Given the description of an element on the screen output the (x, y) to click on. 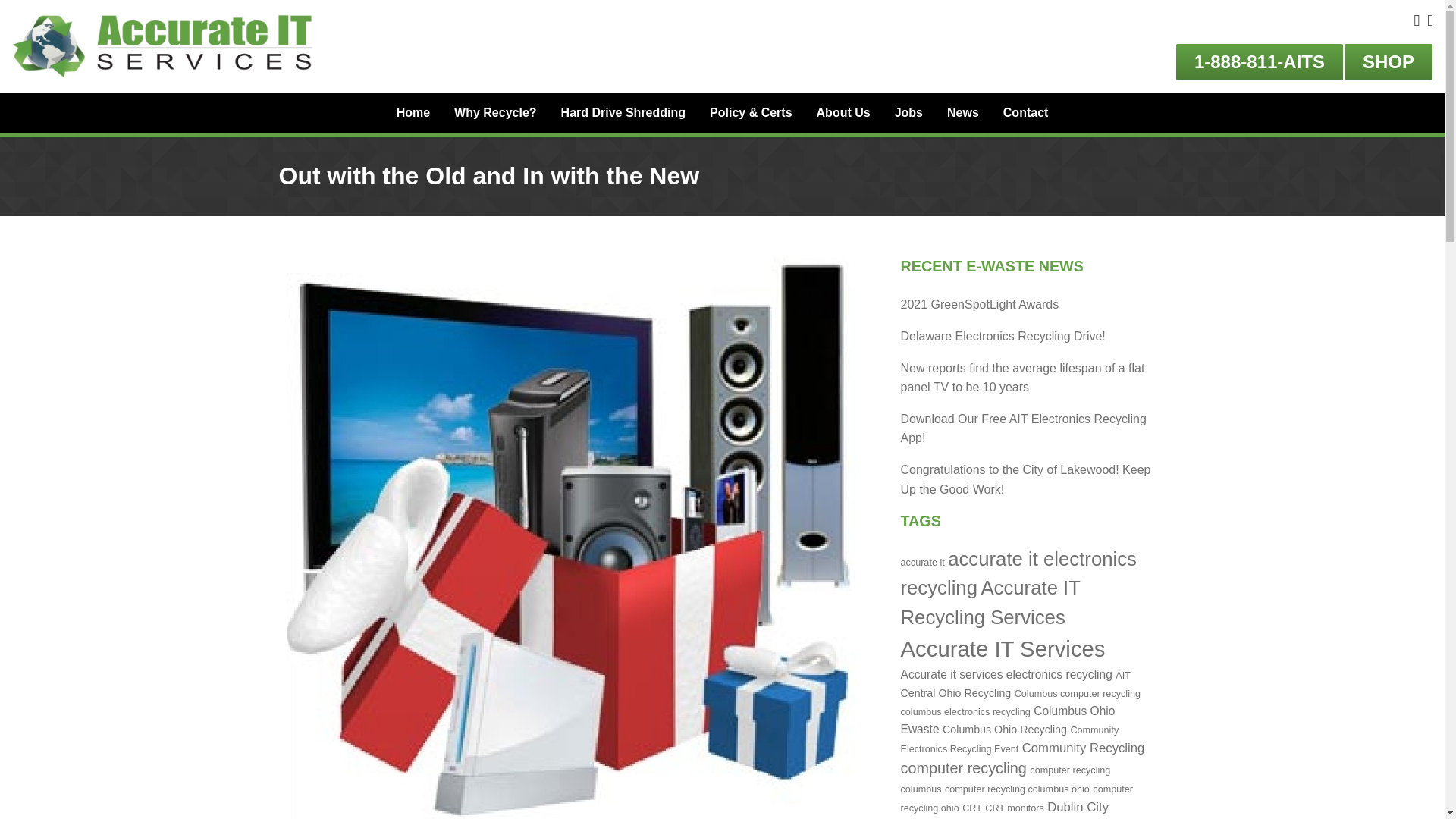
Download Our Free AIT Electronics Recycling App! (1024, 428)
accurate it (922, 562)
Jobs (908, 112)
News (962, 112)
Accurate it services electronics recycling (1006, 674)
Accurate IT Services (1003, 648)
About Us (843, 112)
1-888-811-AITS : 1-888-811-2487 (1258, 61)
Contact (1026, 112)
Delaware Electronics Recycling Drive! (1003, 336)
1-888-811-AITS (1258, 61)
SHOP (1387, 62)
Accurate IT Recycling Services (990, 602)
Hard Drive Shredding (622, 112)
